Given the description of an element on the screen output the (x, y) to click on. 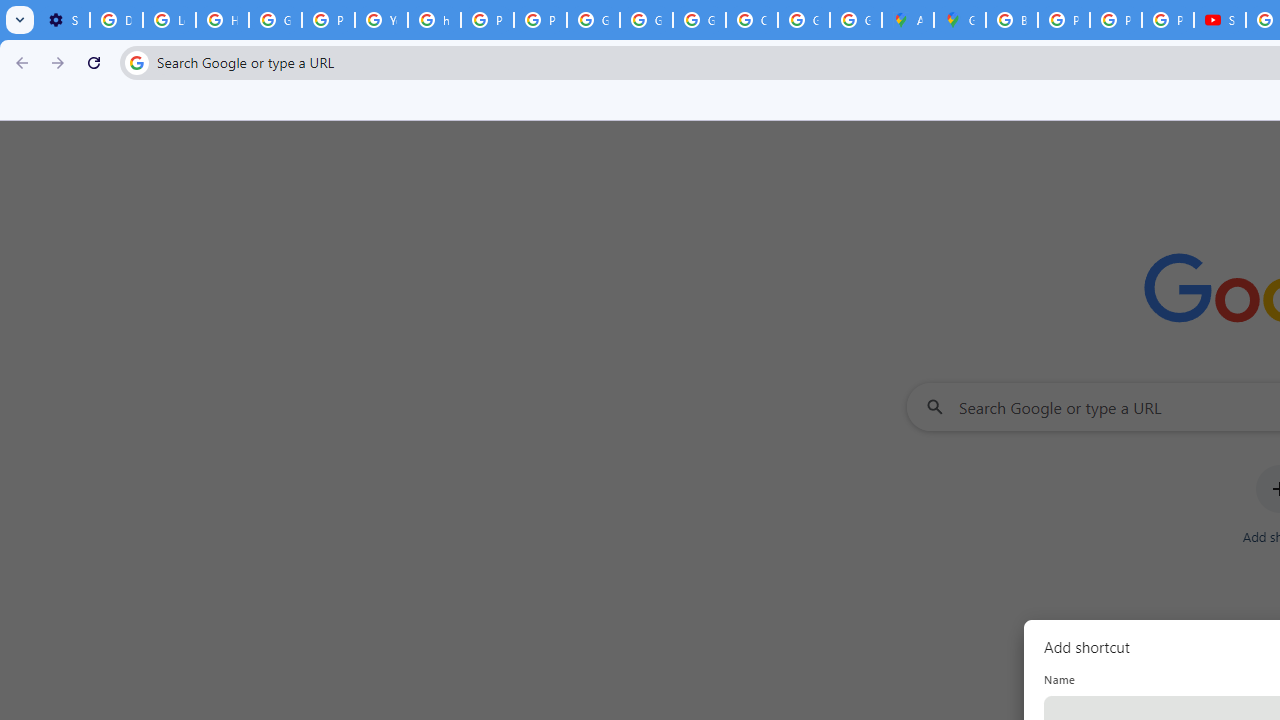
Privacy Help Center - Policies Help (328, 20)
https://scholar.google.com/ (434, 20)
Privacy Help Center - Policies Help (487, 20)
Subscriptions - YouTube (1219, 20)
Google Maps (959, 20)
Settings - Customize profile (63, 20)
Create your Google Account (751, 20)
